Given the description of an element on the screen output the (x, y) to click on. 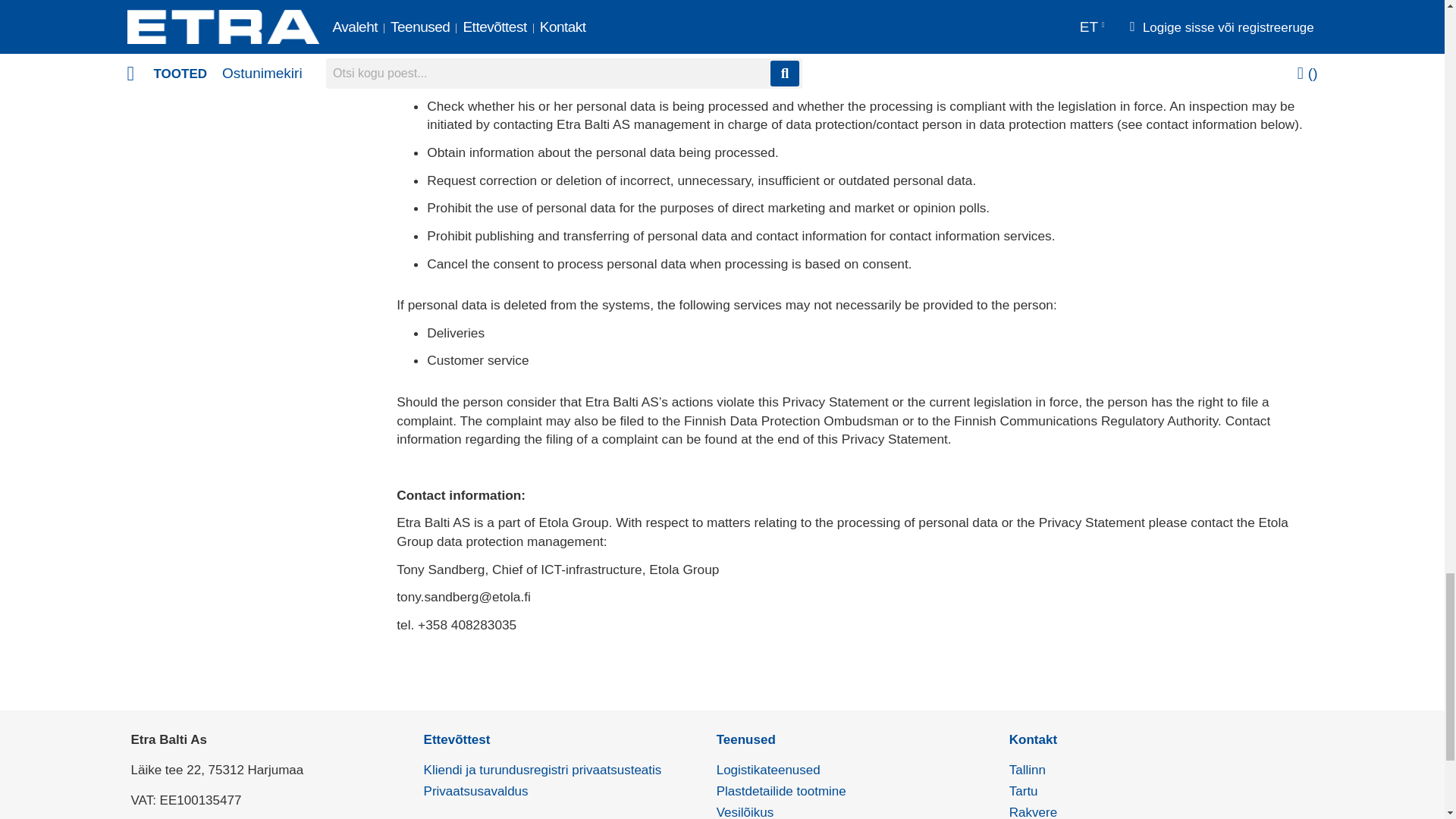
Plastdetailide tootmine (780, 790)
 Teenused (746, 739)
Logistikateenused (768, 769)
